Given the description of an element on the screen output the (x, y) to click on. 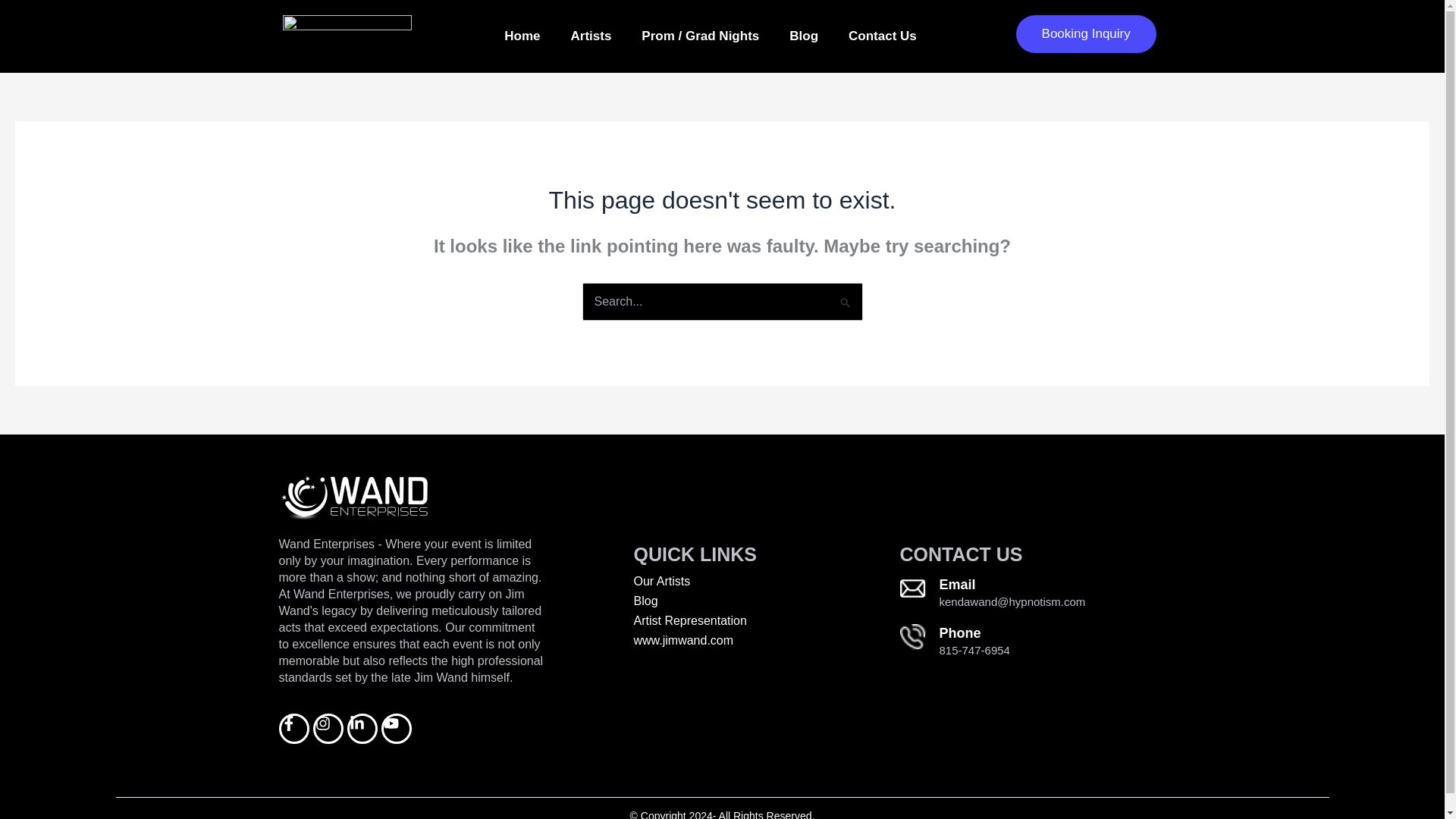
Our Artists (766, 581)
Phone (959, 632)
Email (957, 584)
Artist Representation (766, 621)
Home (521, 36)
www.jimwand.com (766, 640)
Blog (766, 601)
Booking Inquiry (1086, 34)
Blog (803, 36)
Instagram (327, 728)
